Given the description of an element on the screen output the (x, y) to click on. 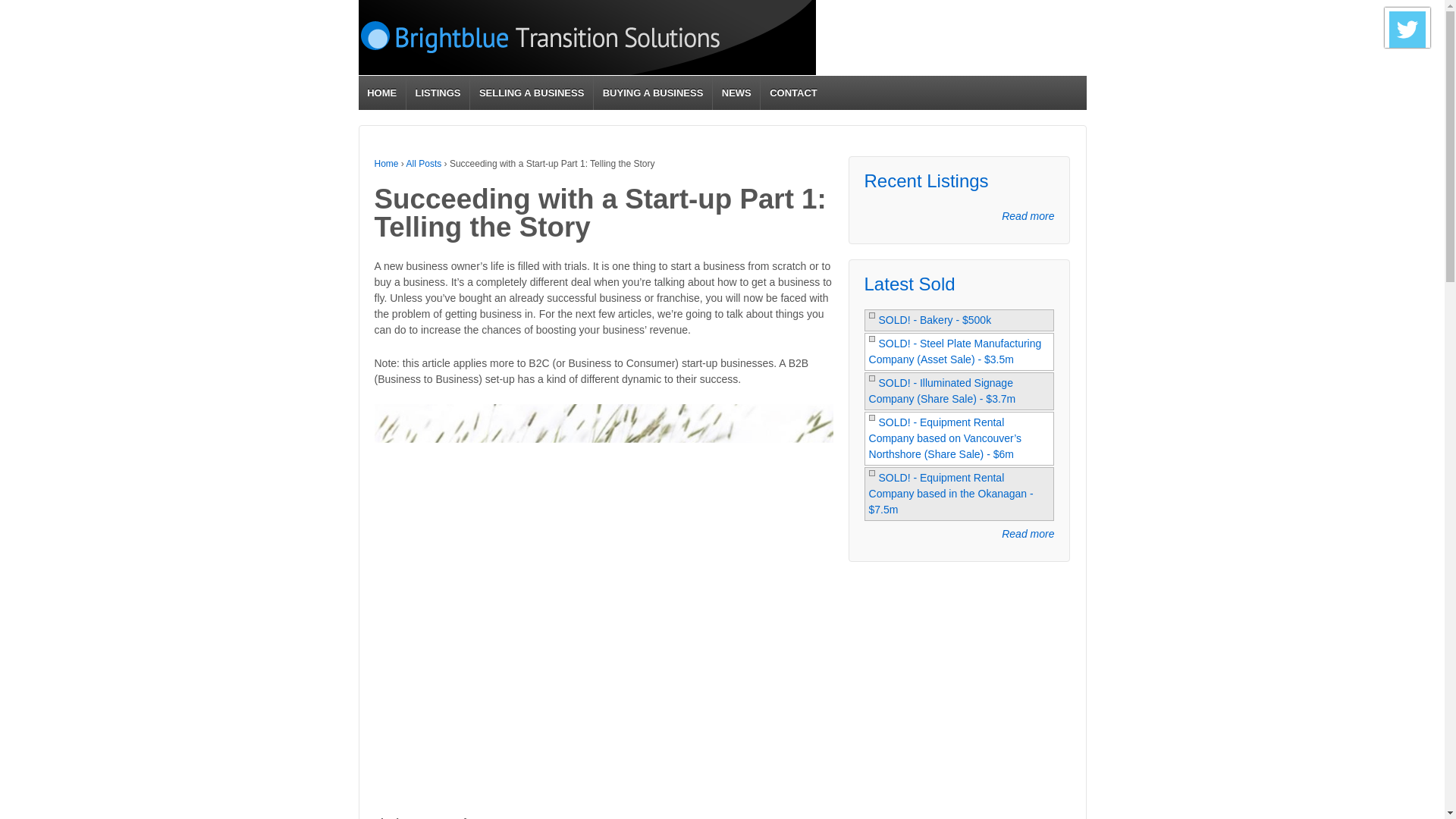
LISTINGS (437, 92)
Read more (1027, 216)
SELLING A BUSINESS (530, 92)
Recent Listings (926, 180)
BUYING A BUSINESS (651, 92)
NEWS (735, 92)
All Posts (424, 163)
HOME (381, 92)
Latest Sold (909, 283)
Home (386, 163)
CONTACT (792, 92)
